Given the description of an element on the screen output the (x, y) to click on. 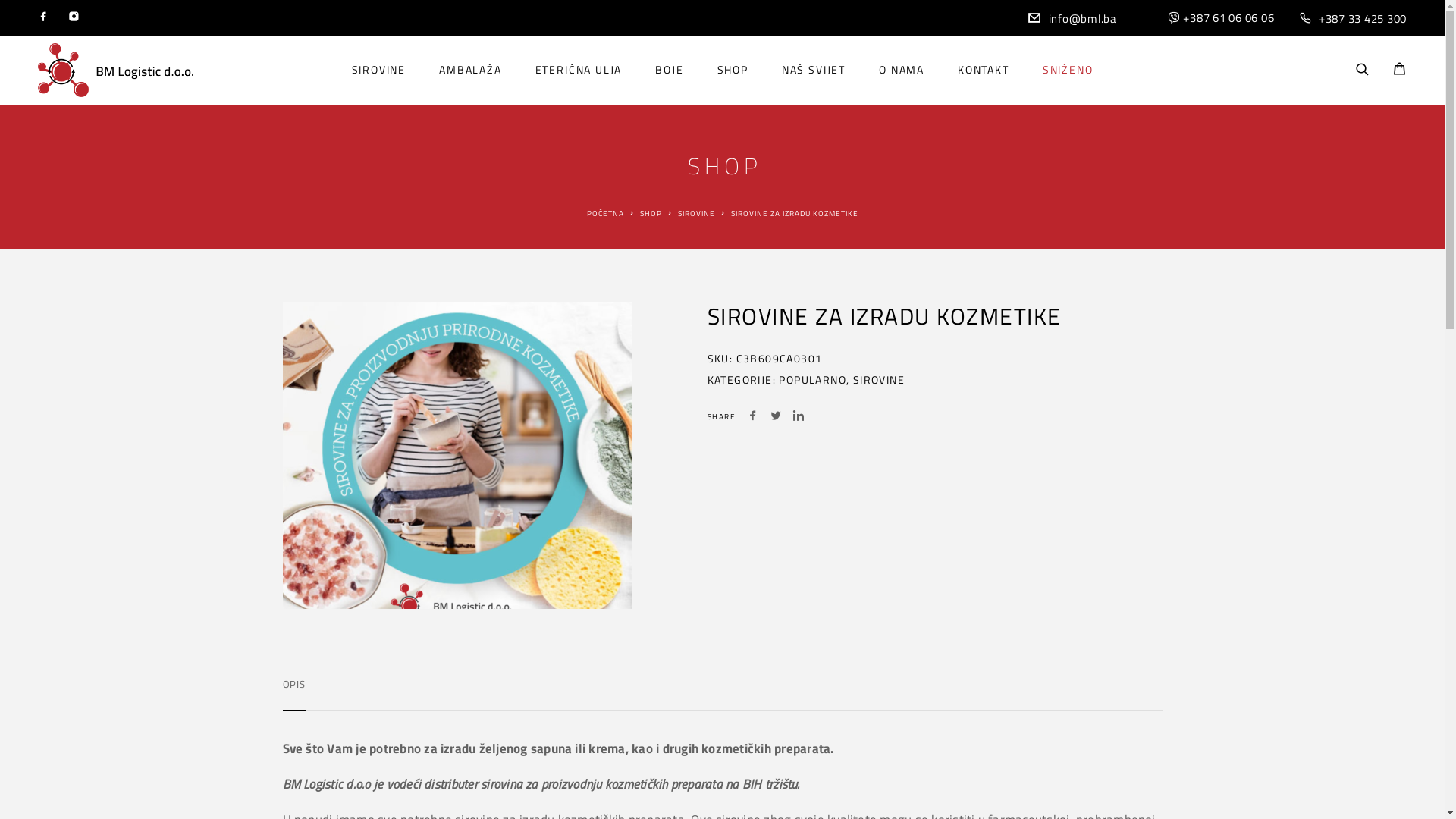
+387 61 06 06 06 Element type: text (1228, 17)
Share on Facebook Element type: hover (752, 416)
KONTAKT Element type: text (983, 69)
SHOP Element type: text (732, 69)
SIROVINE Element type: text (378, 69)
O NAMA Element type: text (901, 69)
SIROVINE Element type: text (878, 379)
POPULARNO Element type: text (812, 379)
SIROVINE Element type: text (696, 213)
+387 33 425 300 Element type: text (1362, 18)
BOJE Element type: text (669, 69)
SHOP Element type: text (651, 213)
OPIS Element type: text (293, 683)
Share on Twitter Element type: hover (775, 416)
info@bml.ba Element type: text (1082, 18)
Share on LinkedIn Element type: hover (798, 416)
